Given the description of an element on the screen output the (x, y) to click on. 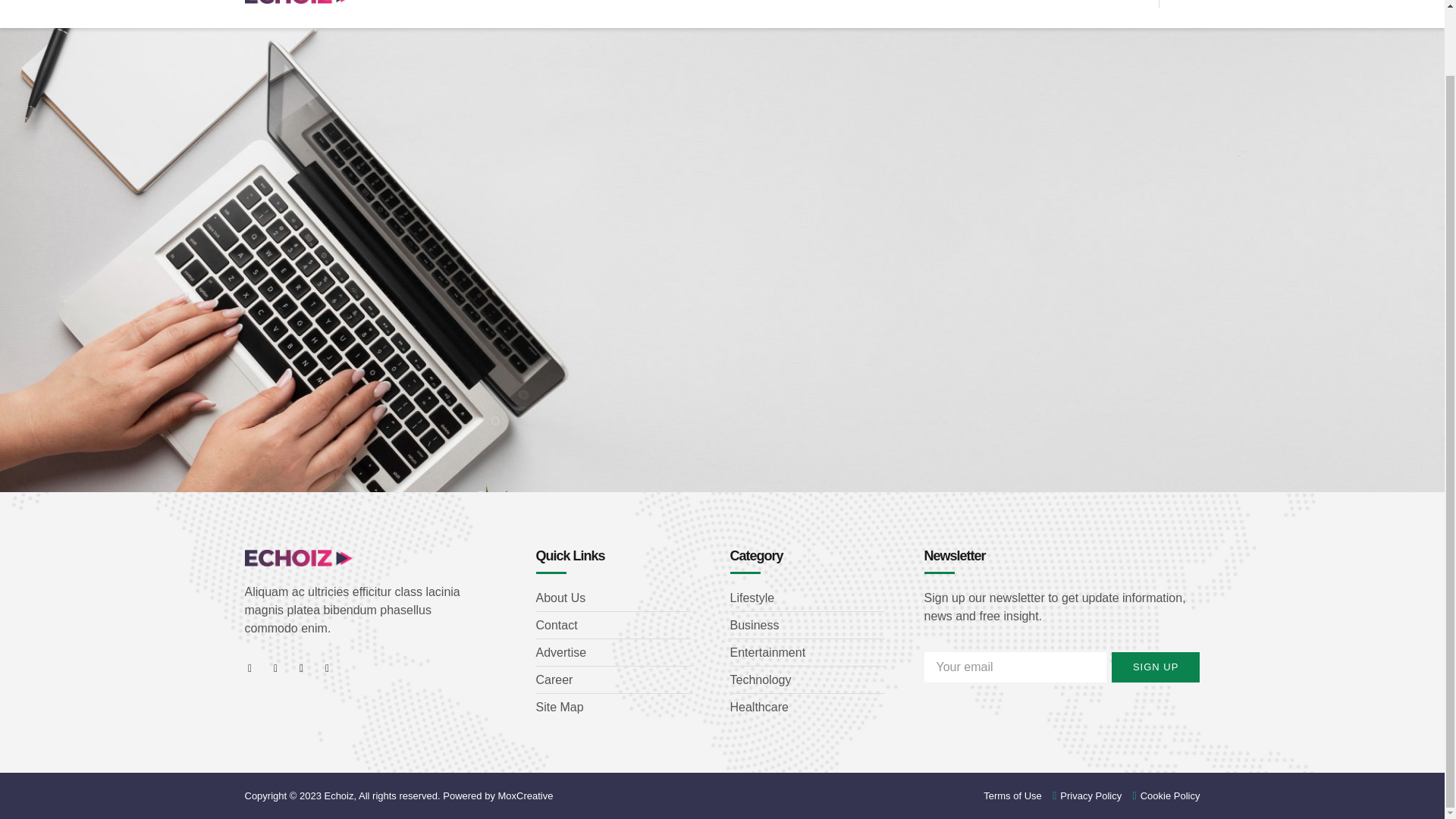
Entertainment (806, 652)
Privacy Policy (1082, 795)
START-UP UPDATES (713, 4)
About Us (612, 597)
START-UP NEWS (586, 4)
Advertise (612, 652)
Contact (612, 625)
Business (806, 625)
Healthcare (806, 707)
START-UP EVENTS (845, 4)
